Given the description of an element on the screen output the (x, y) to click on. 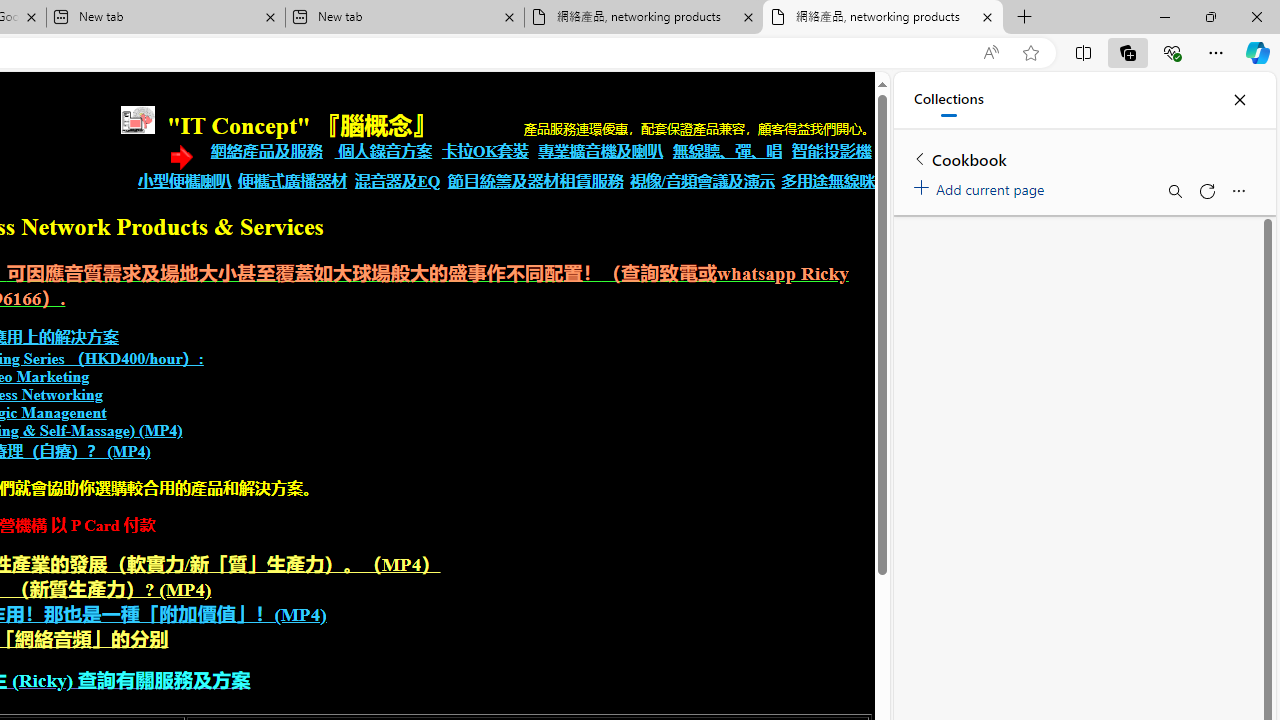
More options menu (1238, 190)
Add current page (982, 186)
